Given the description of an element on the screen output the (x, y) to click on. 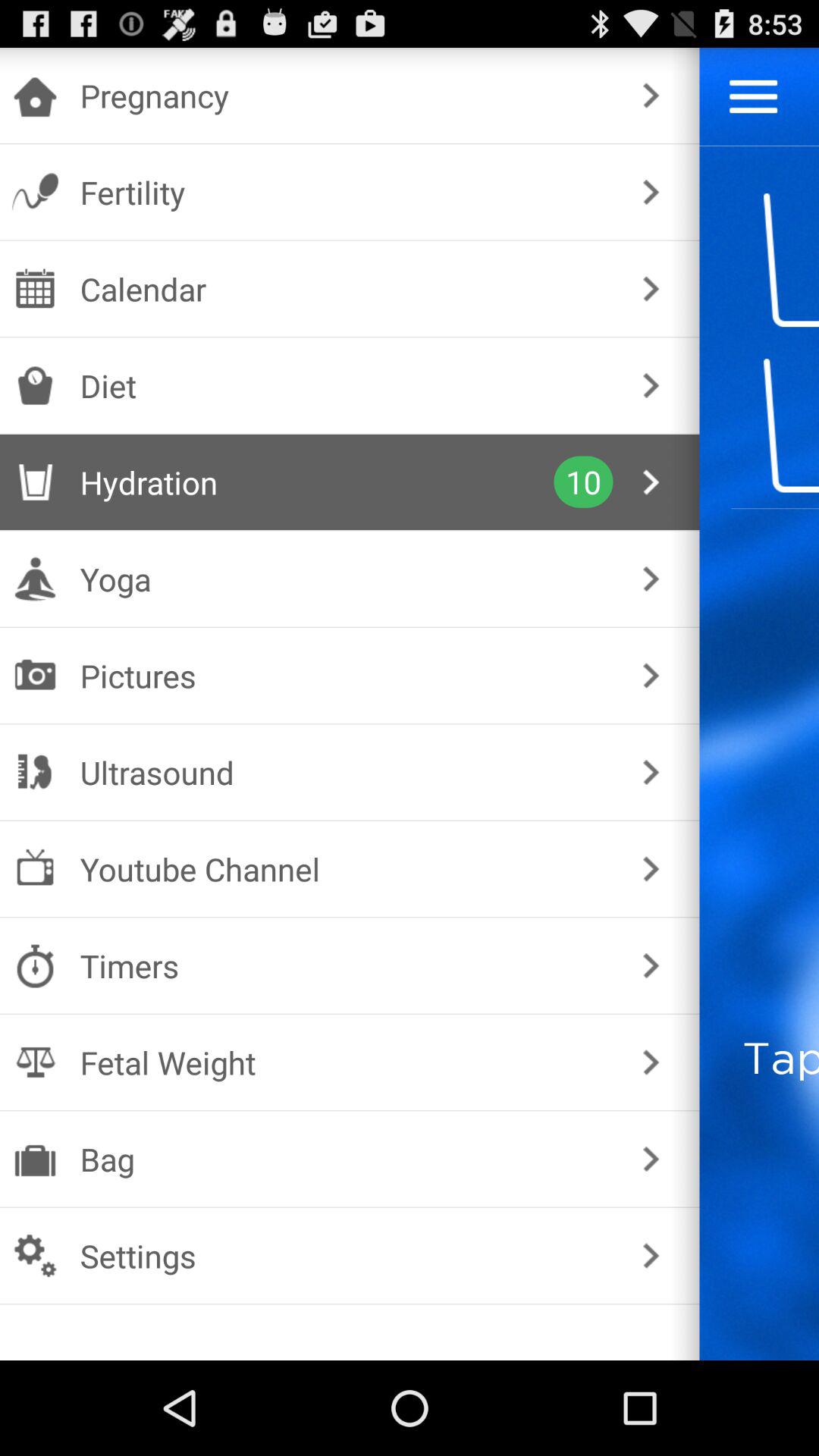
click bag checkbox (346, 1158)
